Given the description of an element on the screen output the (x, y) to click on. 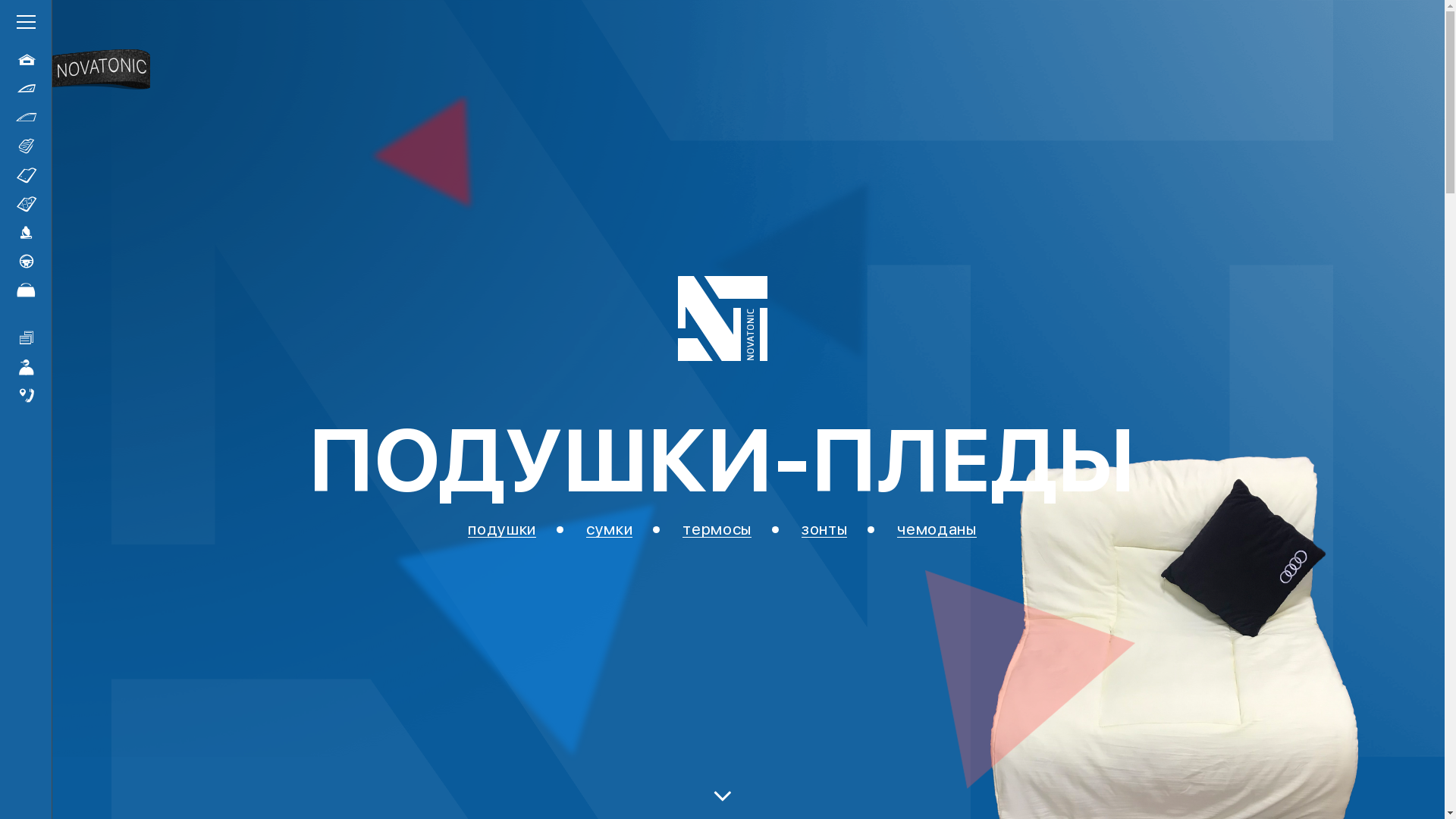
Novatonic Element type: text (722, 318)
